Given the description of an element on the screen output the (x, y) to click on. 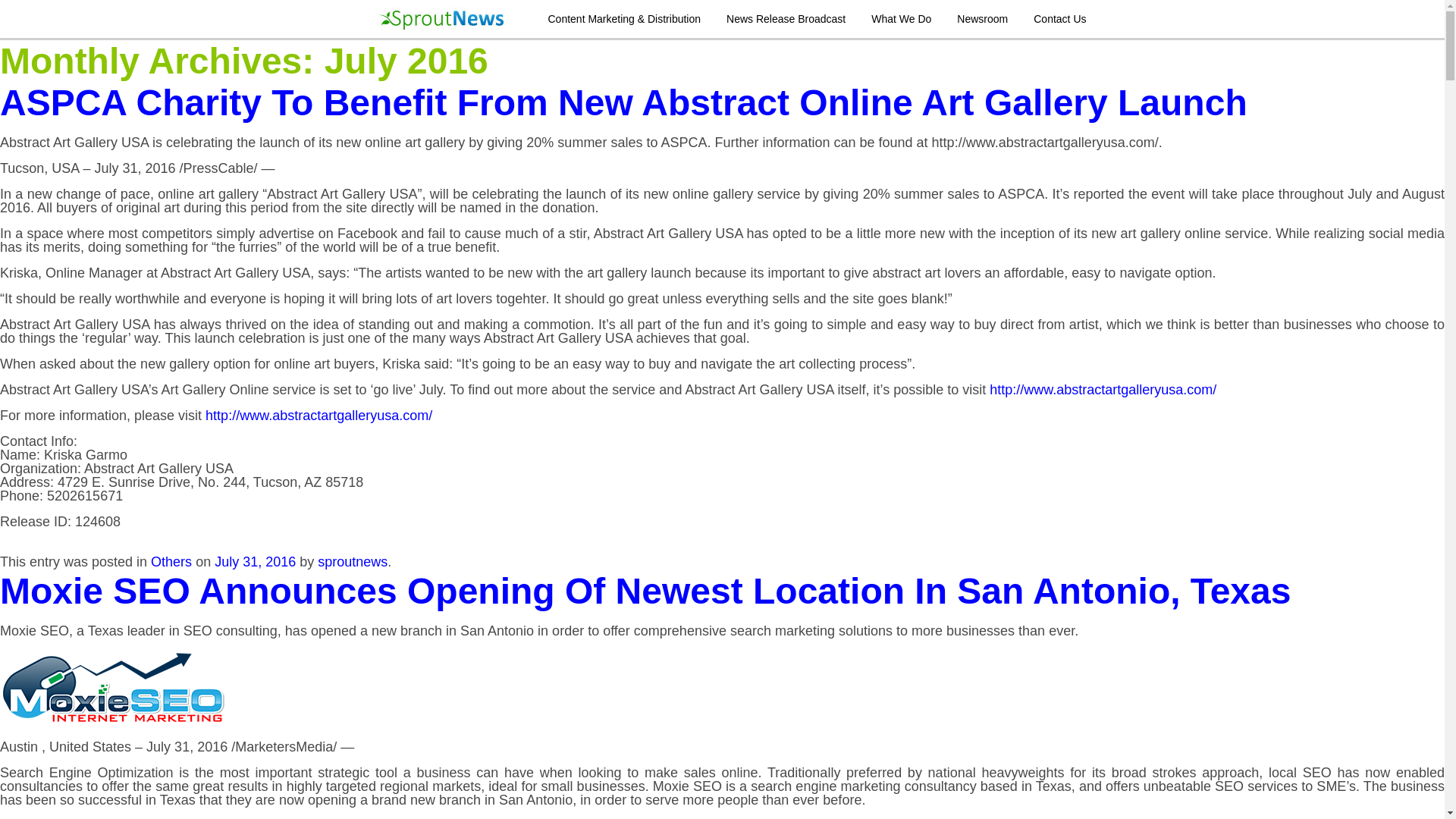
Newsroom (981, 18)
sproutnews (352, 561)
3:30 pm (254, 561)
What We Do (900, 18)
July 31, 2016 (254, 561)
Contact Us (1059, 18)
Others (171, 561)
News Release Broadcast (785, 18)
View all posts by sproutnews (352, 561)
